Given the description of an element on the screen output the (x, y) to click on. 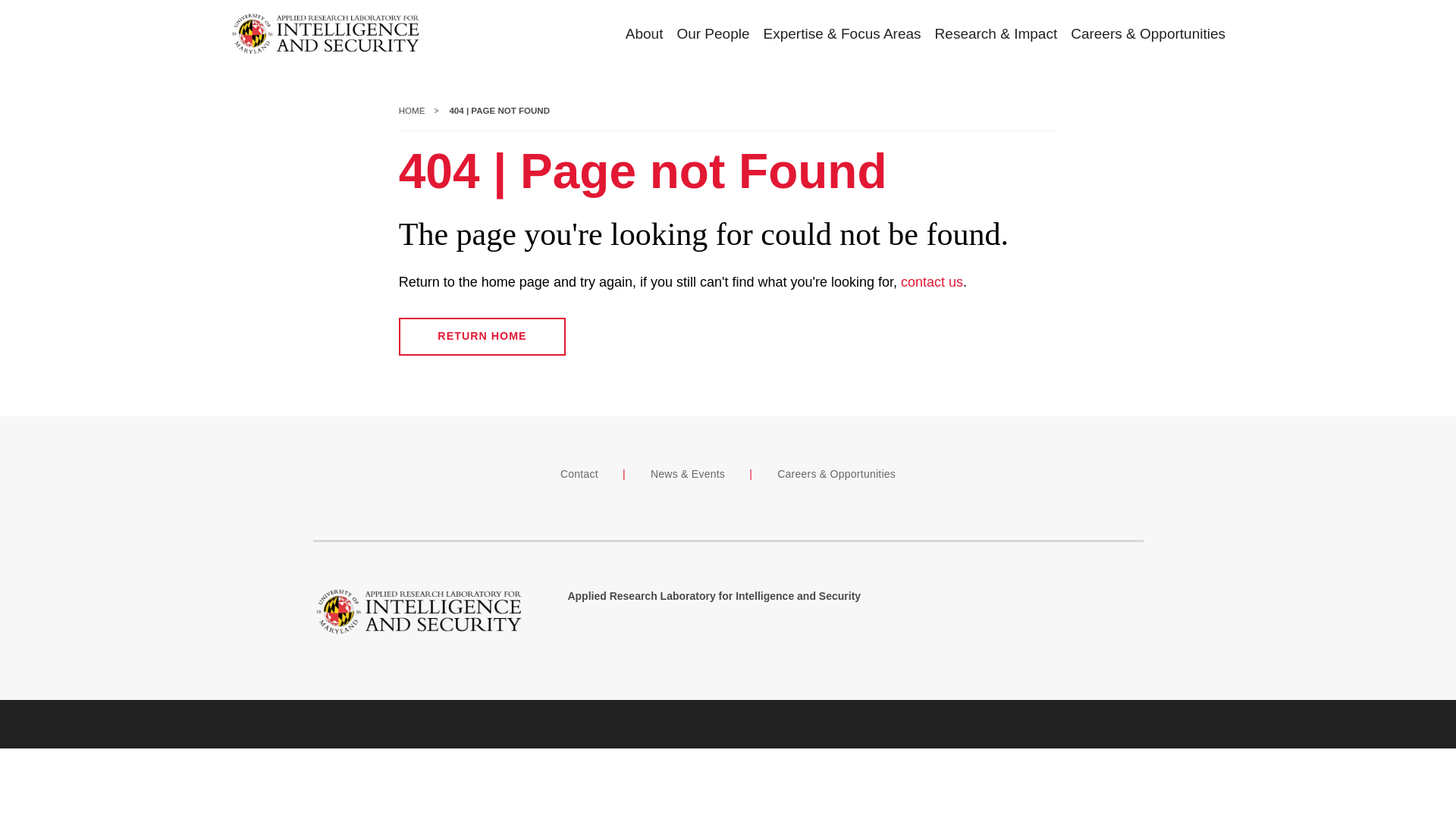
HOME (411, 110)
About (637, 34)
Contact (579, 473)
Our People (705, 34)
contact us (931, 282)
RETURN HOME (482, 336)
